Given the description of an element on the screen output the (x, y) to click on. 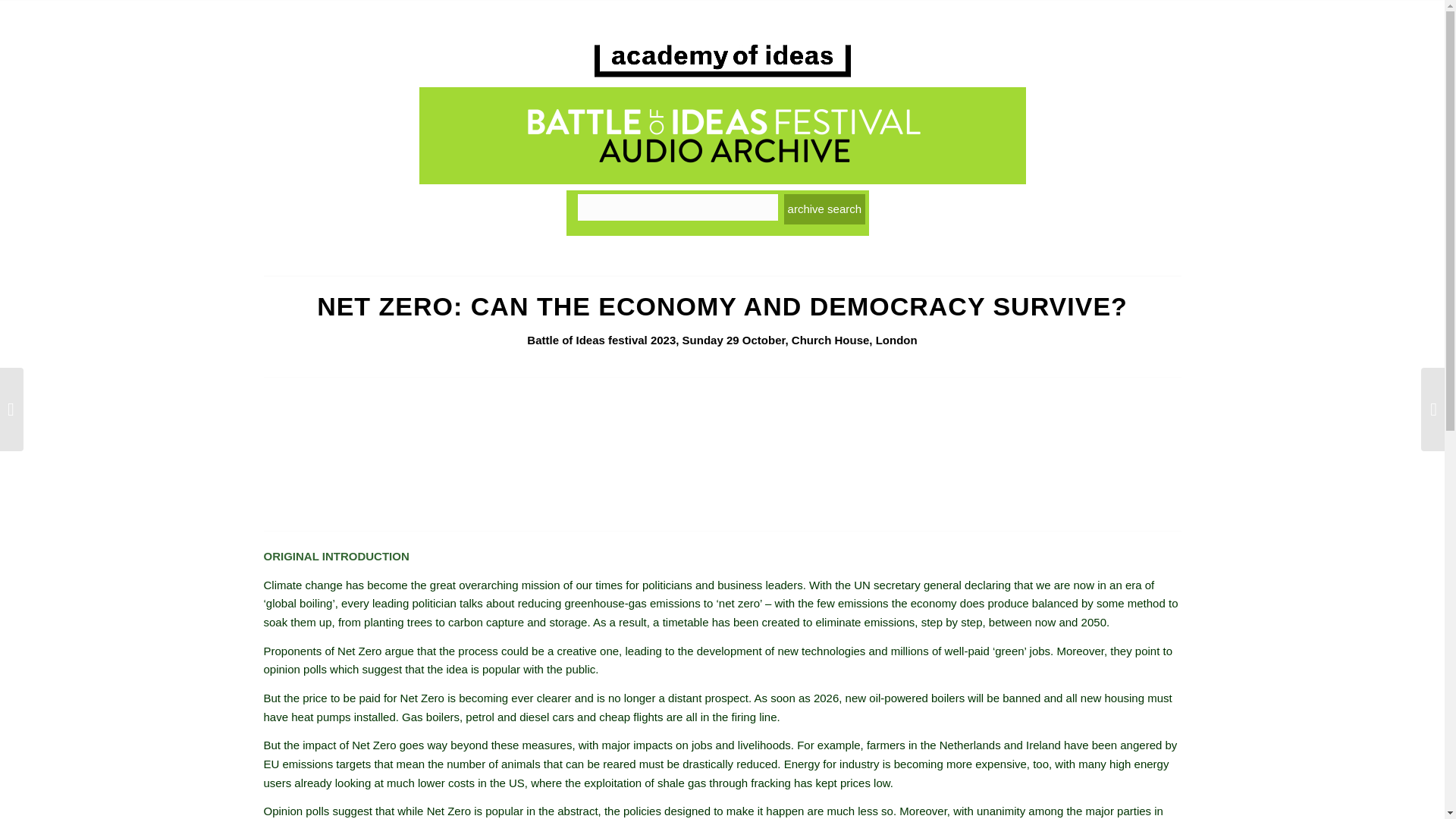
Net zero: can the economy and democracy survive? (721, 449)
archive search (825, 209)
archive search (825, 209)
archive search (825, 209)
